Given the description of an element on the screen output the (x, y) to click on. 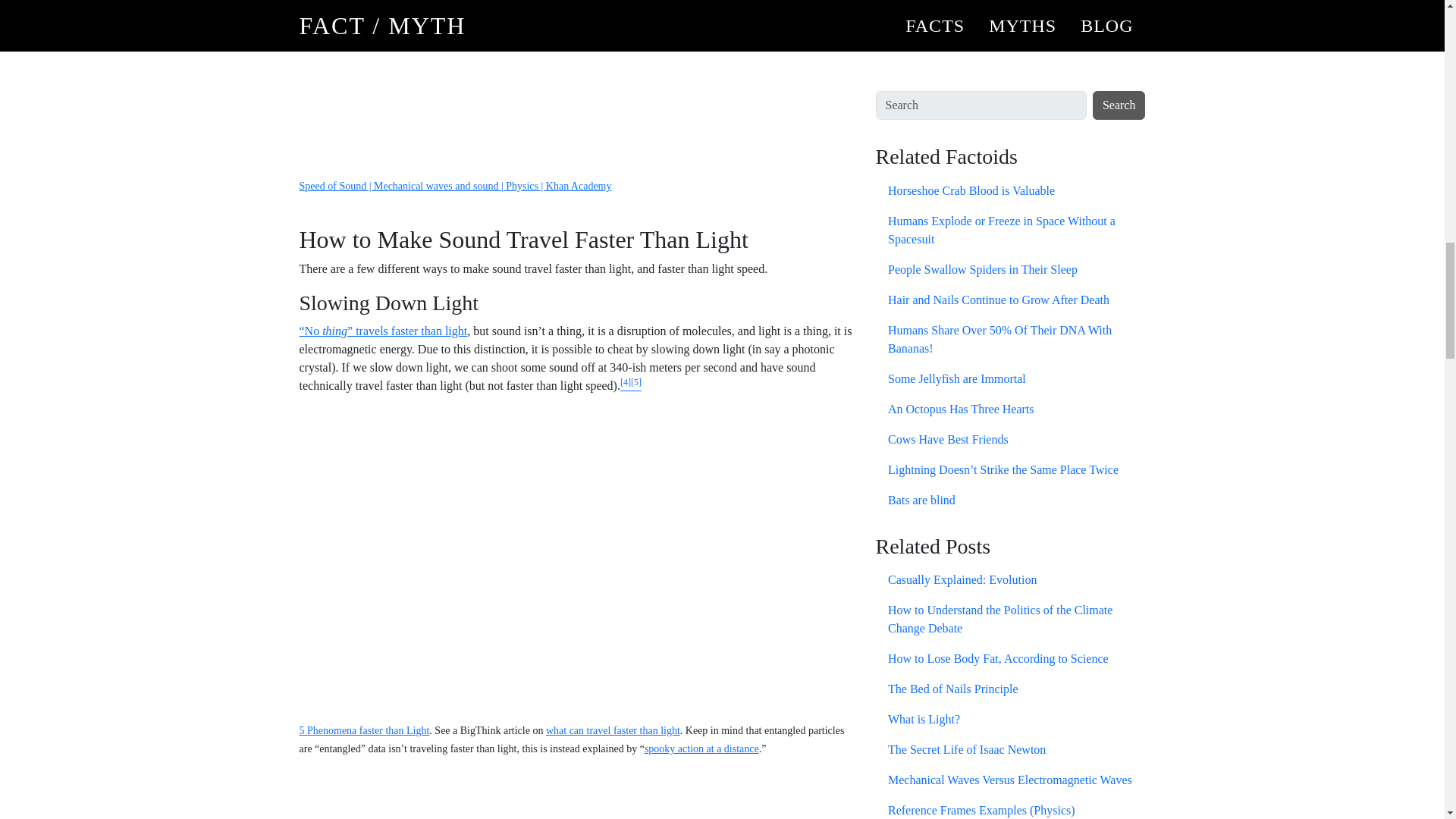
spooky action at a distance (701, 748)
what can travel faster than light (612, 730)
5 Phenomena faster than Light (363, 730)
